Given the description of an element on the screen output the (x, y) to click on. 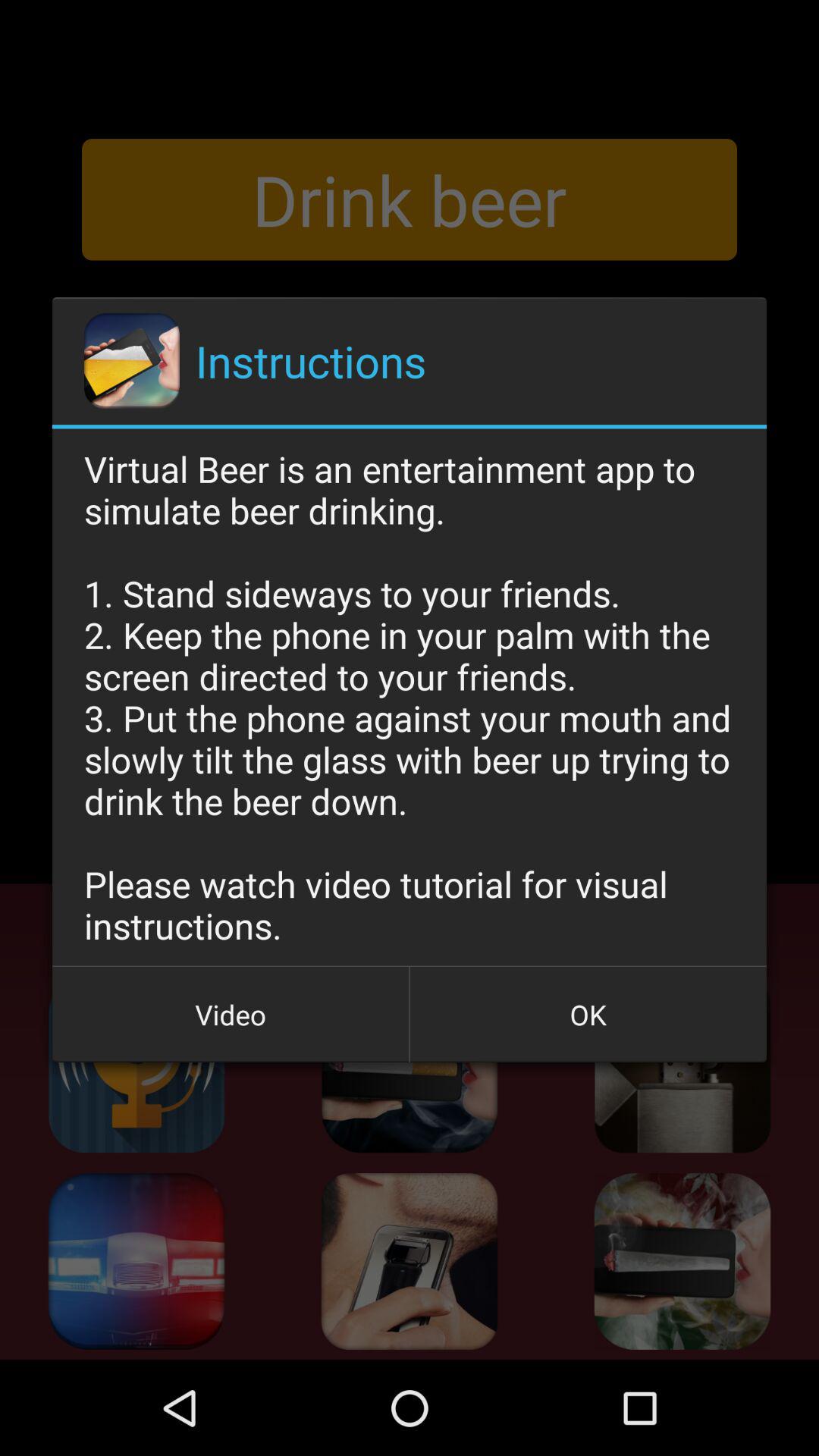
click the ok item (588, 1014)
